Given the description of an element on the screen output the (x, y) to click on. 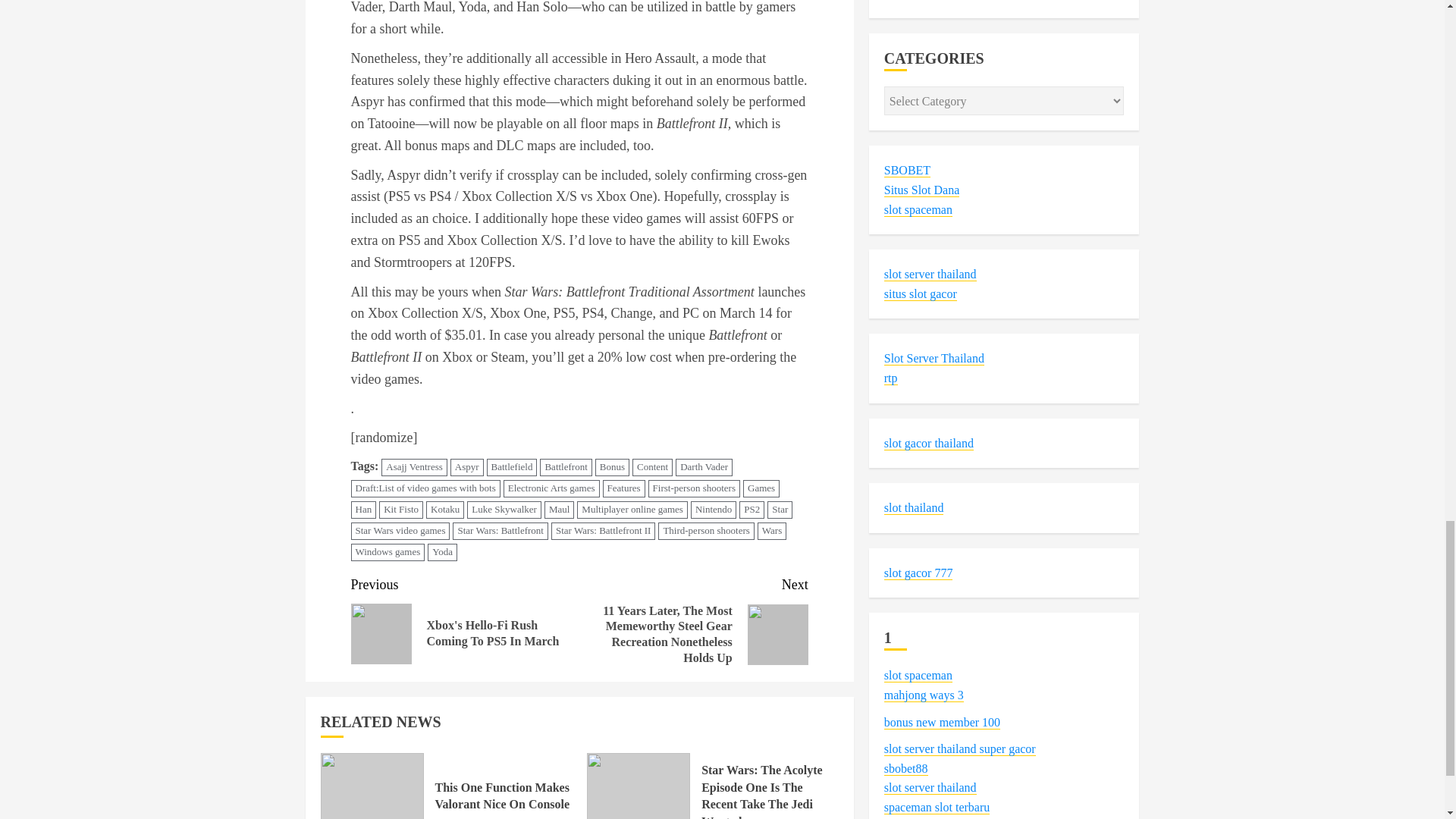
Content (651, 466)
Asajj Ventress (413, 466)
Darth Vader (703, 466)
Bonus (611, 466)
Draft:List of video games with bots (424, 488)
Aspyr (466, 466)
Battlefront (565, 466)
Battlefield (511, 466)
